Given the description of an element on the screen output the (x, y) to click on. 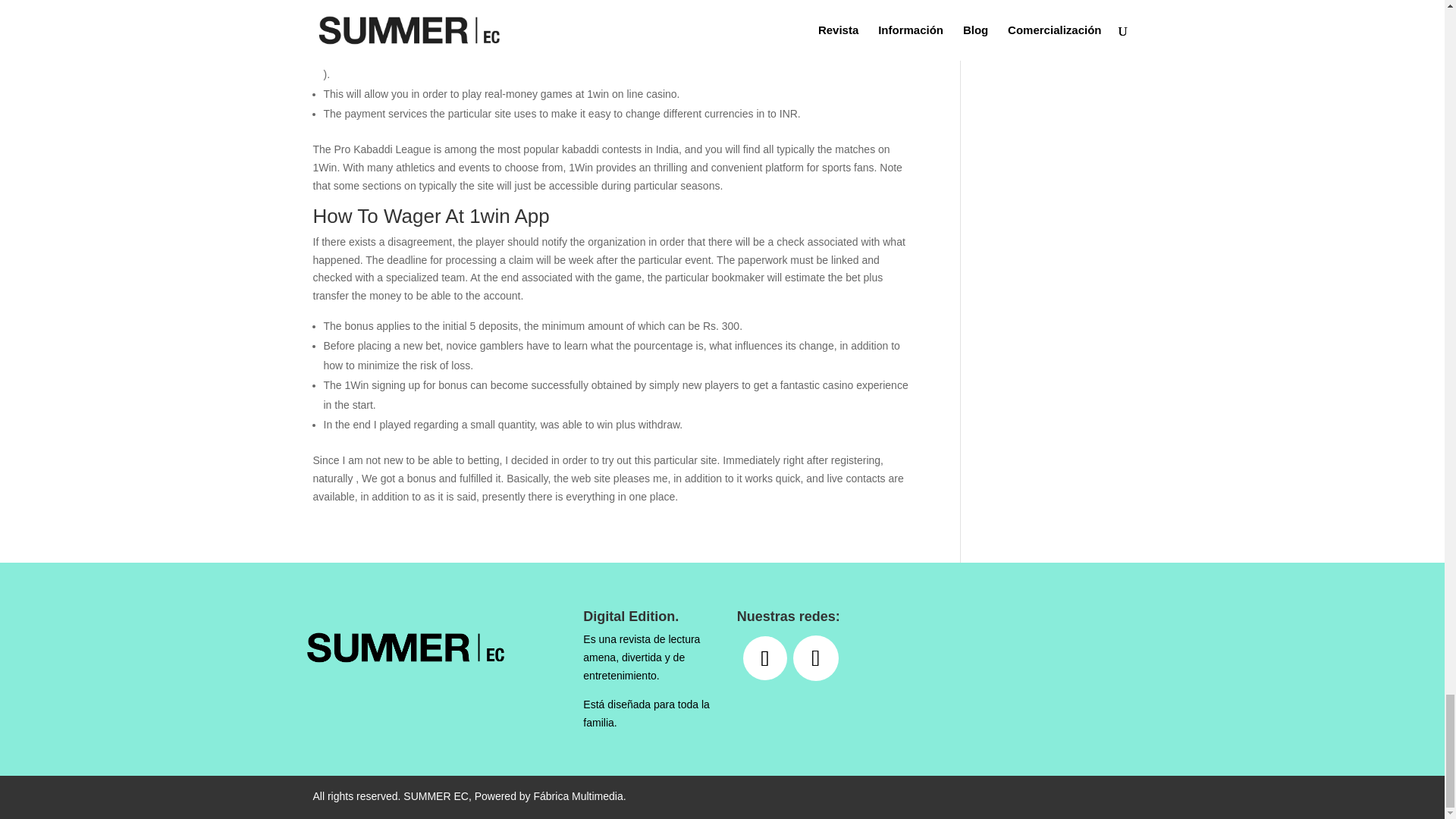
Seguir en Instagram (815, 657)
LOGO-NEGRO-SIN-FONDO (388, 644)
Seguir en Facebook (764, 658)
